Given the description of an element on the screen output the (x, y) to click on. 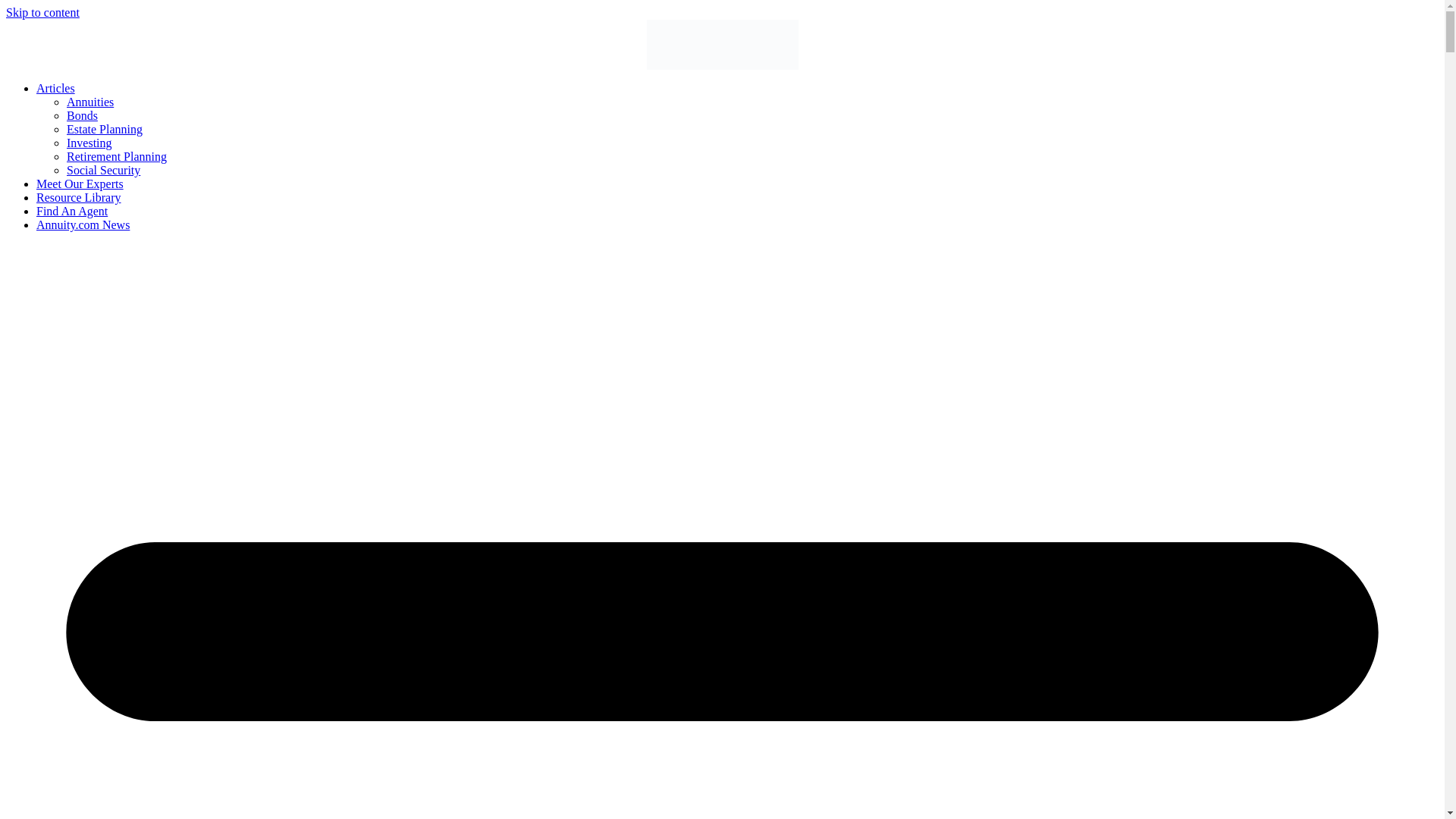
Meet Our Experts (79, 183)
Skip to content (42, 11)
Annuities (89, 101)
Social Security (102, 169)
Annuity.com News (82, 224)
Investing (89, 142)
Estate Planning (104, 128)
Find An Agent (71, 210)
Articles (55, 88)
Bonds (81, 115)
Retirement Planning (116, 155)
Resource Library (78, 196)
